Given the description of an element on the screen output the (x, y) to click on. 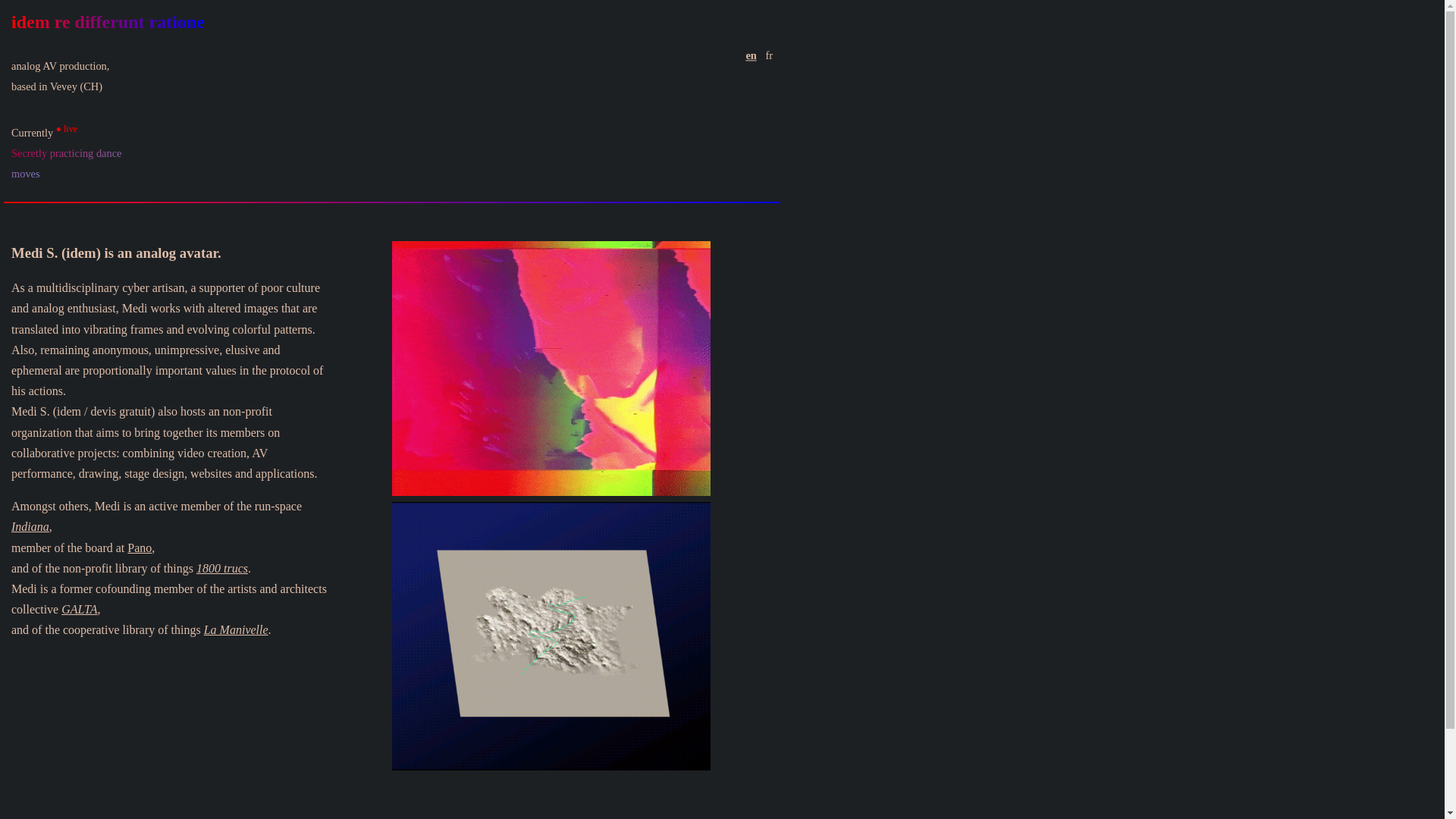
La Manivelle (235, 629)
1800 trucs (221, 567)
idem re differunt ratione (108, 21)
Indiana (30, 526)
GALTA (79, 608)
Secretly practicing dance moves (65, 163)
Pano (139, 547)
